Given the description of an element on the screen output the (x, y) to click on. 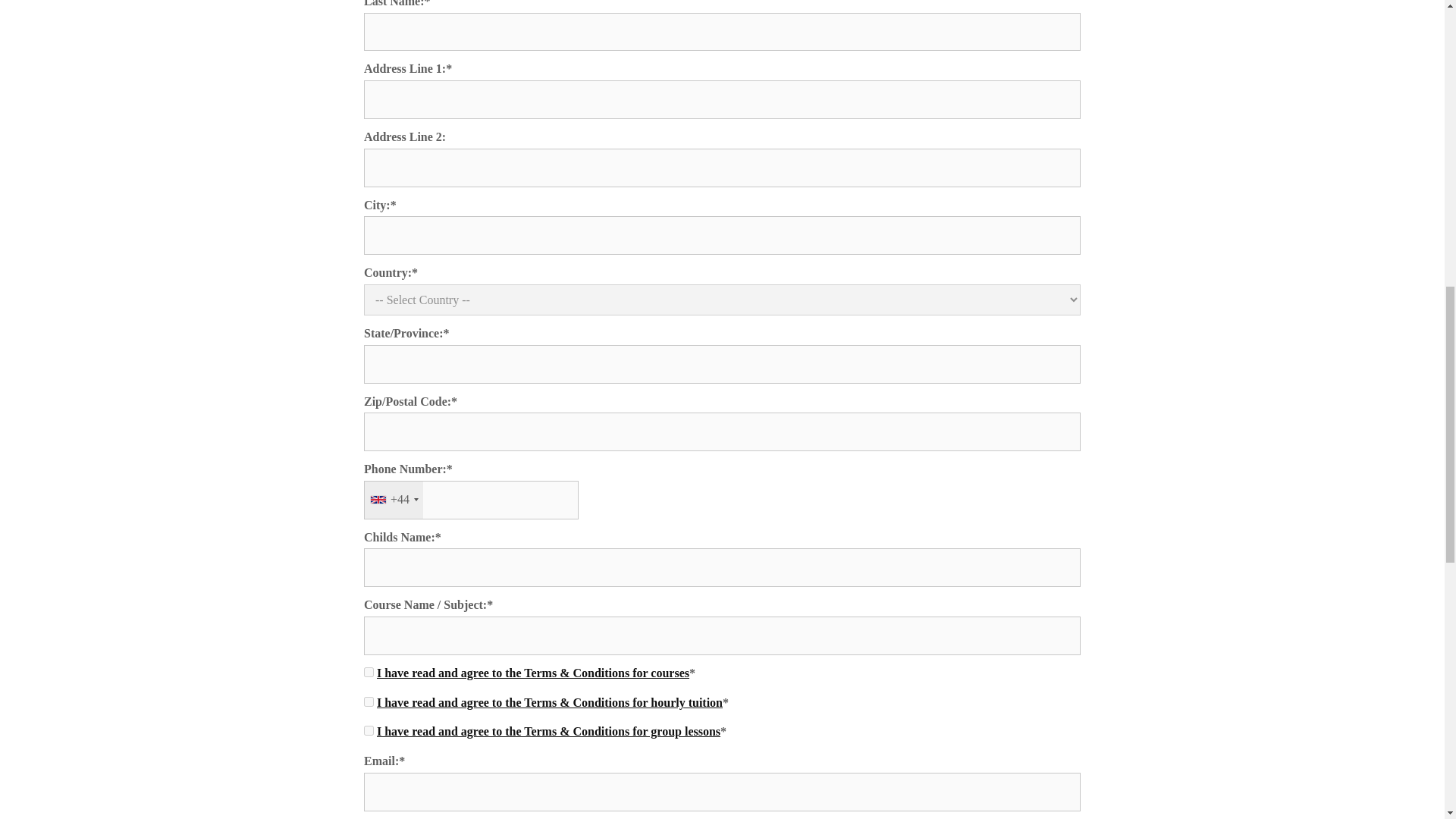
on (369, 672)
on (369, 701)
on (369, 730)
